Given the description of an element on the screen output the (x, y) to click on. 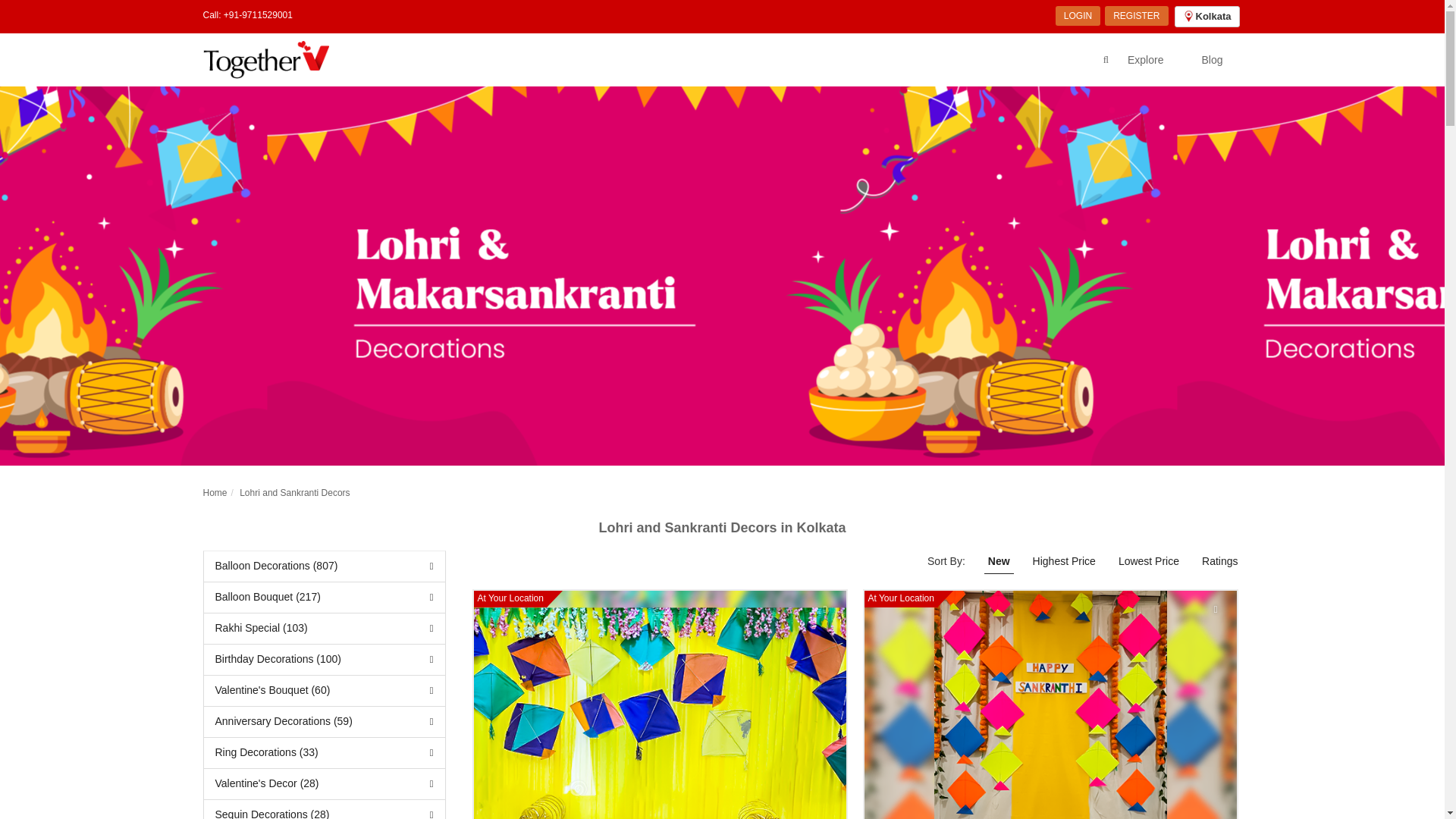
LOGIN (1077, 15)
REGISTER (1136, 15)
Blog (1212, 59)
Home (215, 491)
Explore (1144, 59)
Kolkata (1207, 16)
Lohri and Sankranti Decors (294, 491)
